Given the description of an element on the screen output the (x, y) to click on. 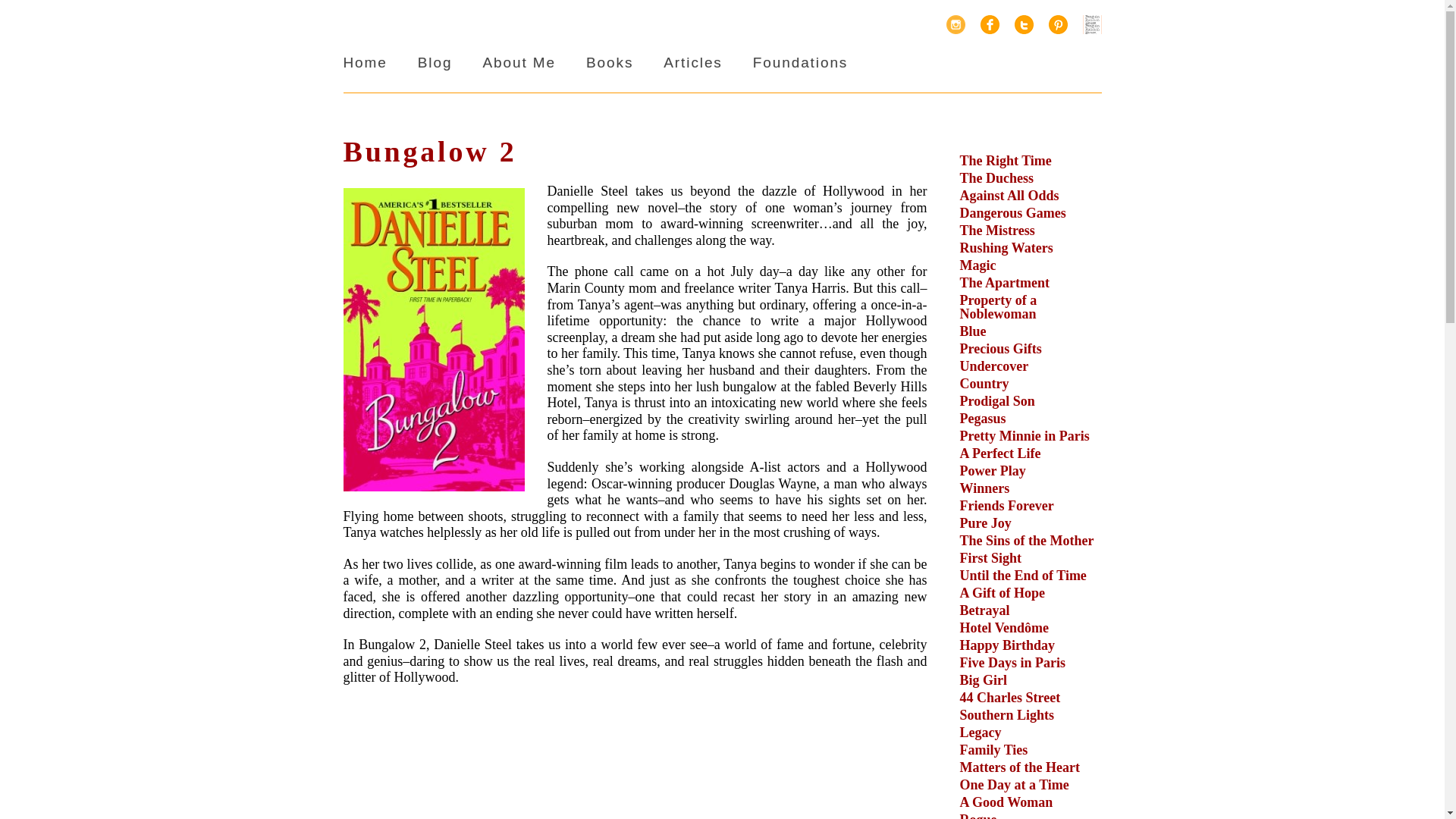
Undercover (994, 365)
Blue (973, 331)
Prodigal Son (997, 400)
The Duchess (996, 177)
About Me (518, 62)
Magic (977, 264)
Foundations (799, 62)
Pretty Minnie in Paris (1024, 435)
Books (609, 62)
Facebook (988, 24)
